Given the description of an element on the screen output the (x, y) to click on. 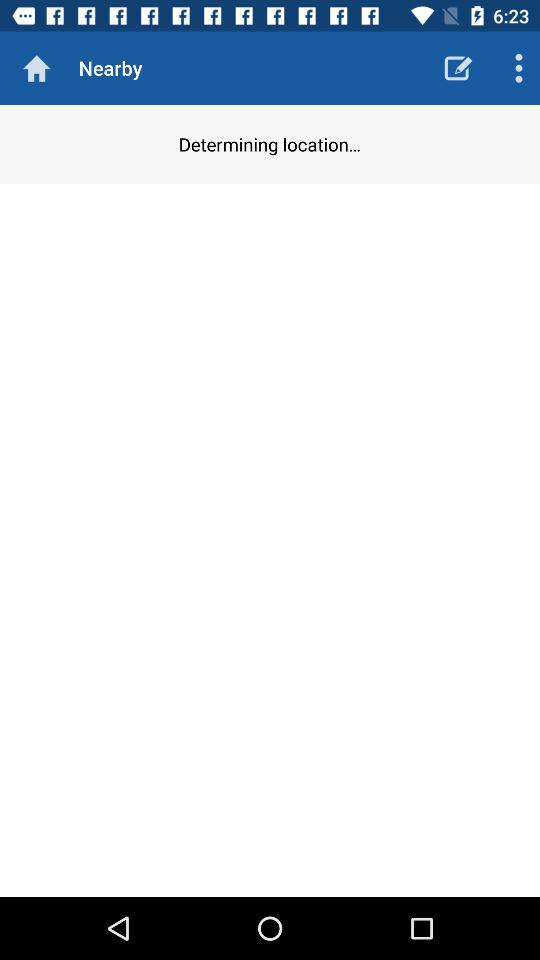
go to home page (36, 68)
